Given the description of an element on the screen output the (x, y) to click on. 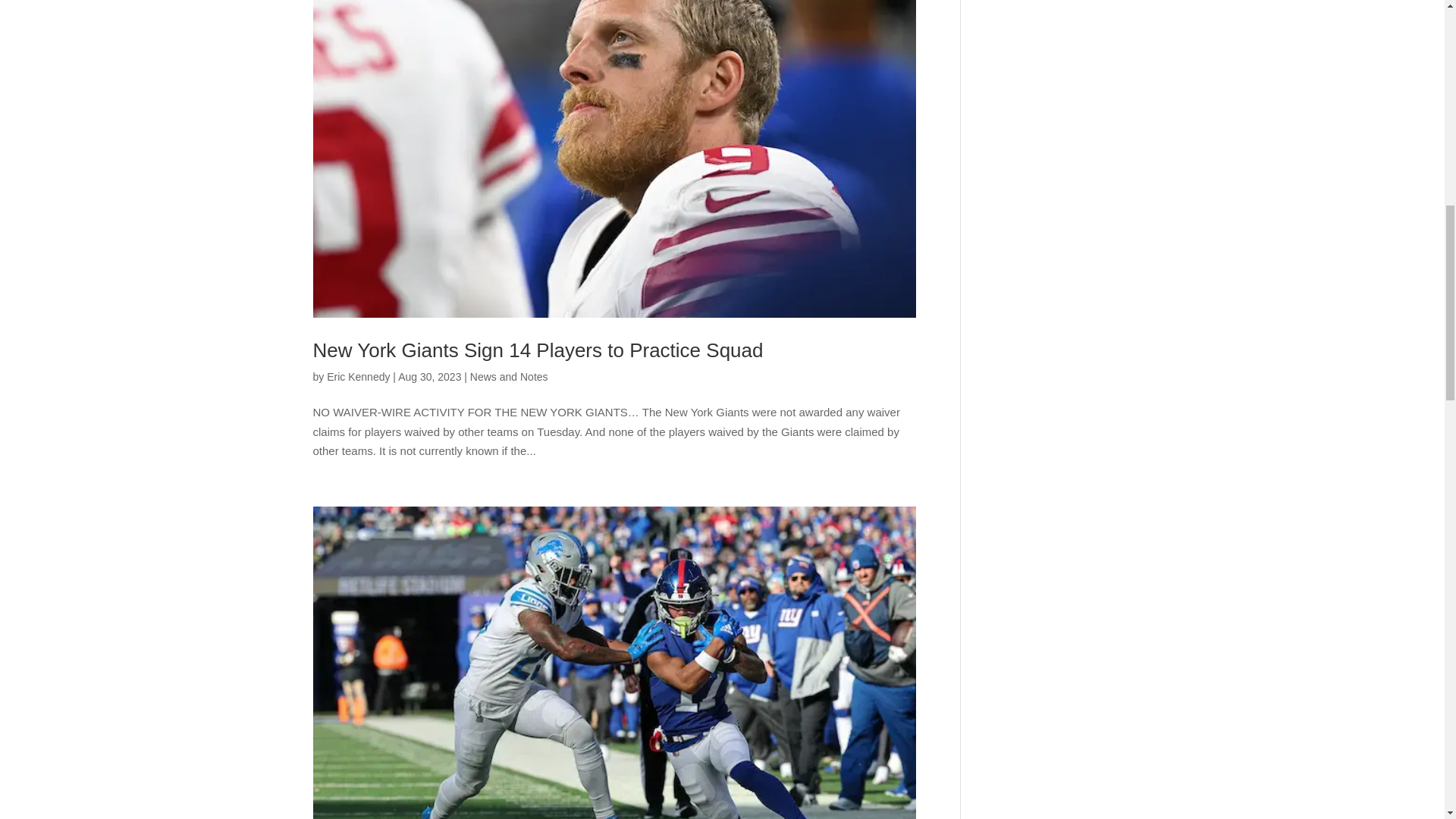
Posts by Eric Kennedy (358, 377)
